Given the description of an element on the screen output the (x, y) to click on. 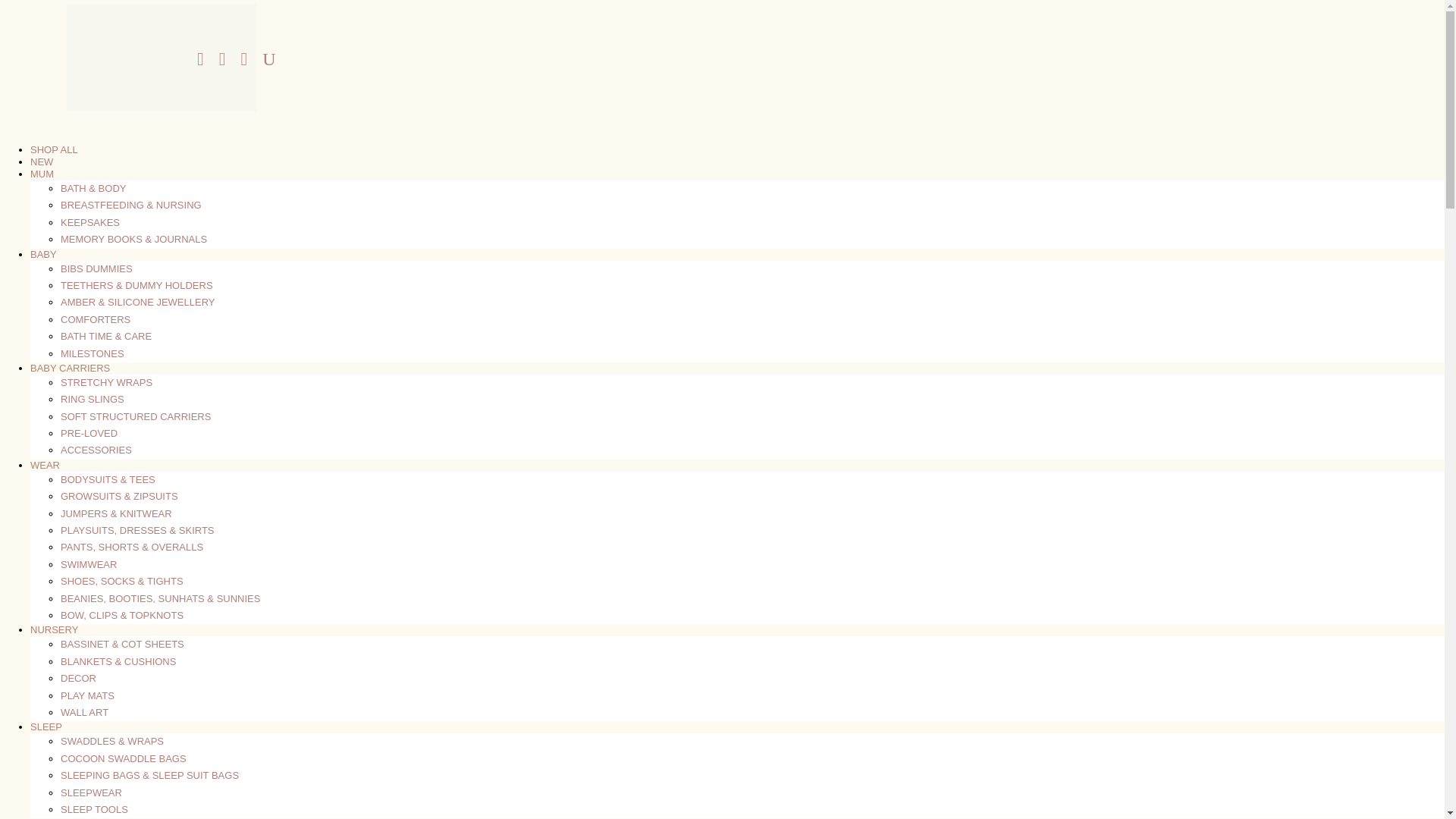
BABY CARRIERS (70, 367)
Site Logo (161, 57)
NEW (41, 161)
RING SLINGS (92, 398)
MILESTONES (92, 353)
KEEPSAKES (90, 222)
SHOP ALL (54, 149)
SWIMWEAR (88, 564)
SOFT STRUCTURED CARRIERS (136, 416)
DECOR (78, 677)
WALL ART (84, 712)
STRETCHY WRAPS (106, 382)
WEAR (44, 464)
PRE-LOVED (89, 432)
BIBS DUMMIES (96, 268)
